Given the description of an element on the screen output the (x, y) to click on. 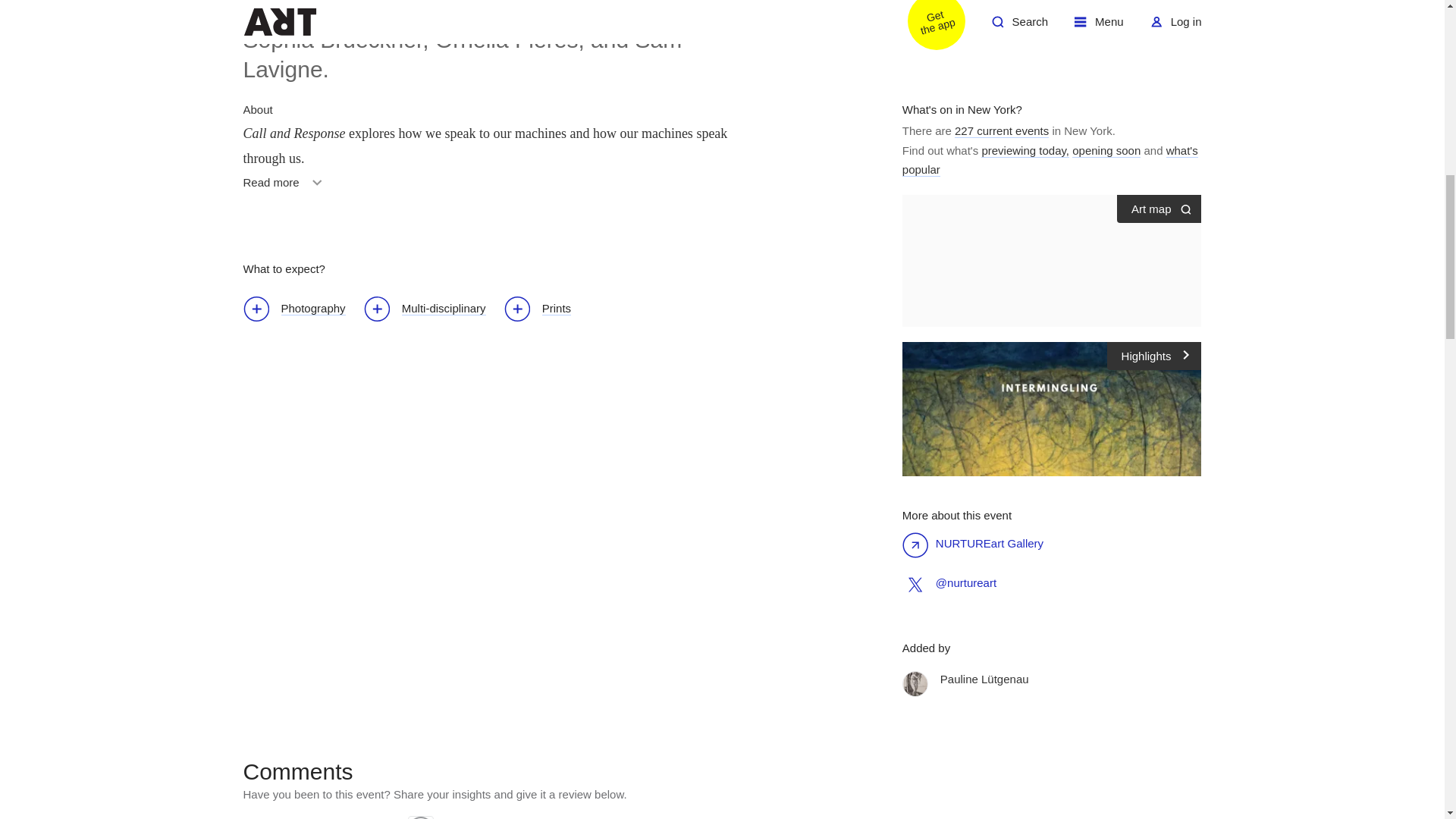
Multi-disciplinary (432, 310)
Photography (286, 187)
